Given the description of an element on the screen output the (x, y) to click on. 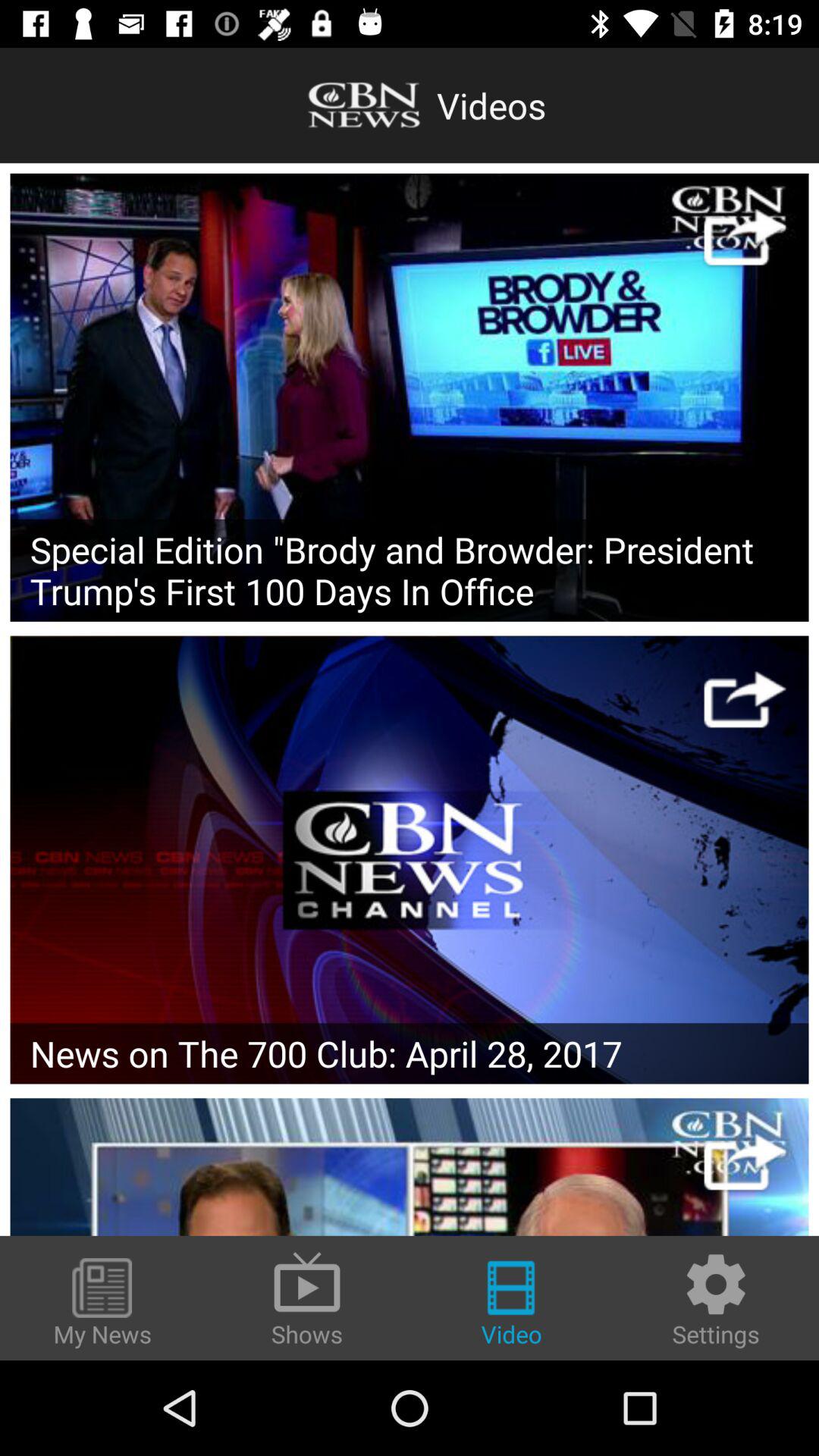
turn on the icon next to the video (715, 1299)
